Given the description of an element on the screen output the (x, y) to click on. 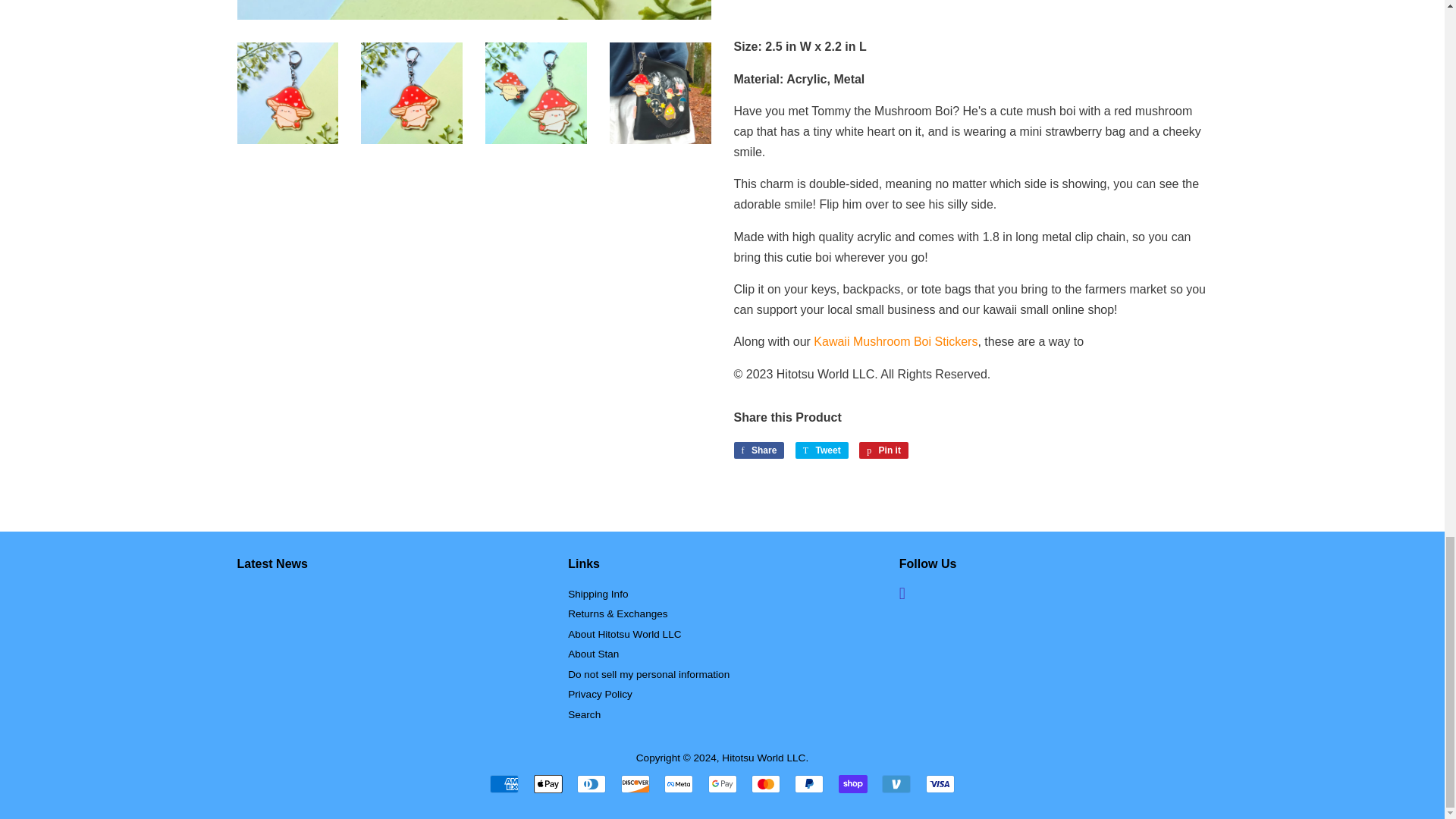
Meta Pay (678, 783)
Visa (940, 783)
Apple Pay (548, 783)
Shop Pay (852, 783)
Mastercard (765, 783)
Pin on Pinterest (883, 450)
Venmo (896, 783)
Diners Club (590, 783)
Google Pay (721, 783)
Discover (635, 783)
PayPal (809, 783)
American Express (503, 783)
Tweet on Twitter (821, 450)
Share on Facebook (758, 450)
